Given the description of an element on the screen output the (x, y) to click on. 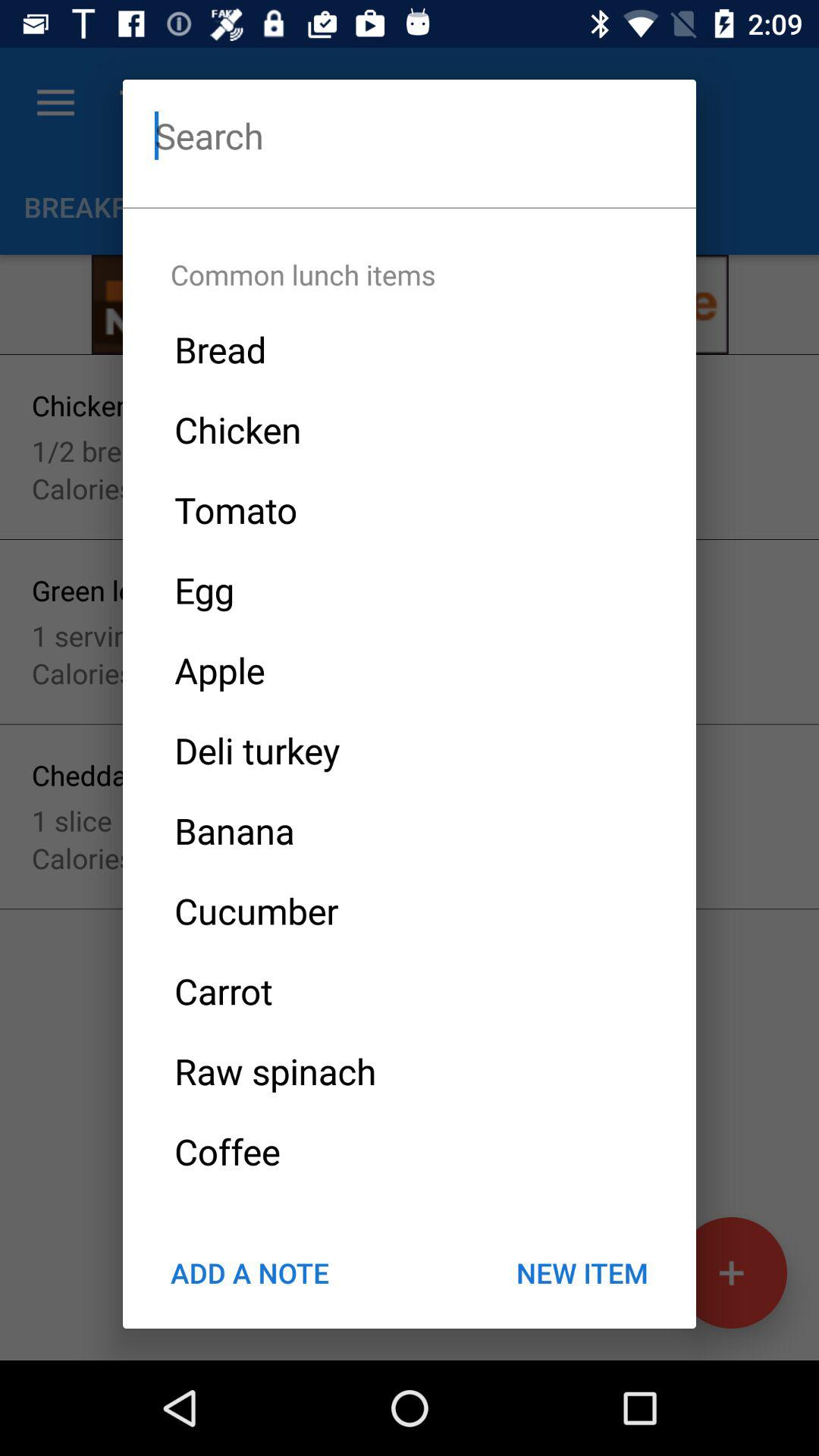
search (409, 135)
